Given the description of an element on the screen output the (x, y) to click on. 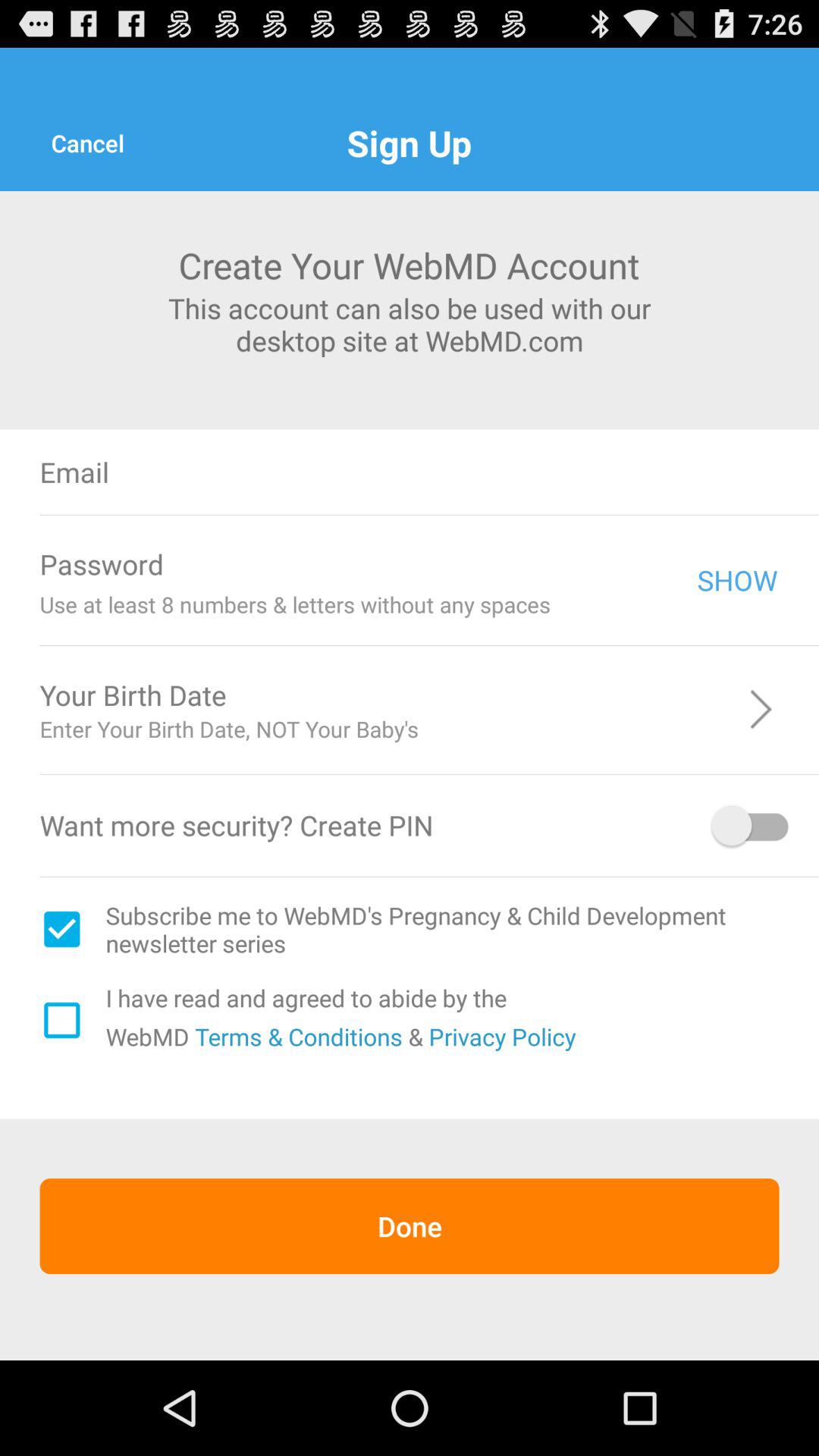
toggle pin option (751, 825)
